Given the description of an element on the screen output the (x, y) to click on. 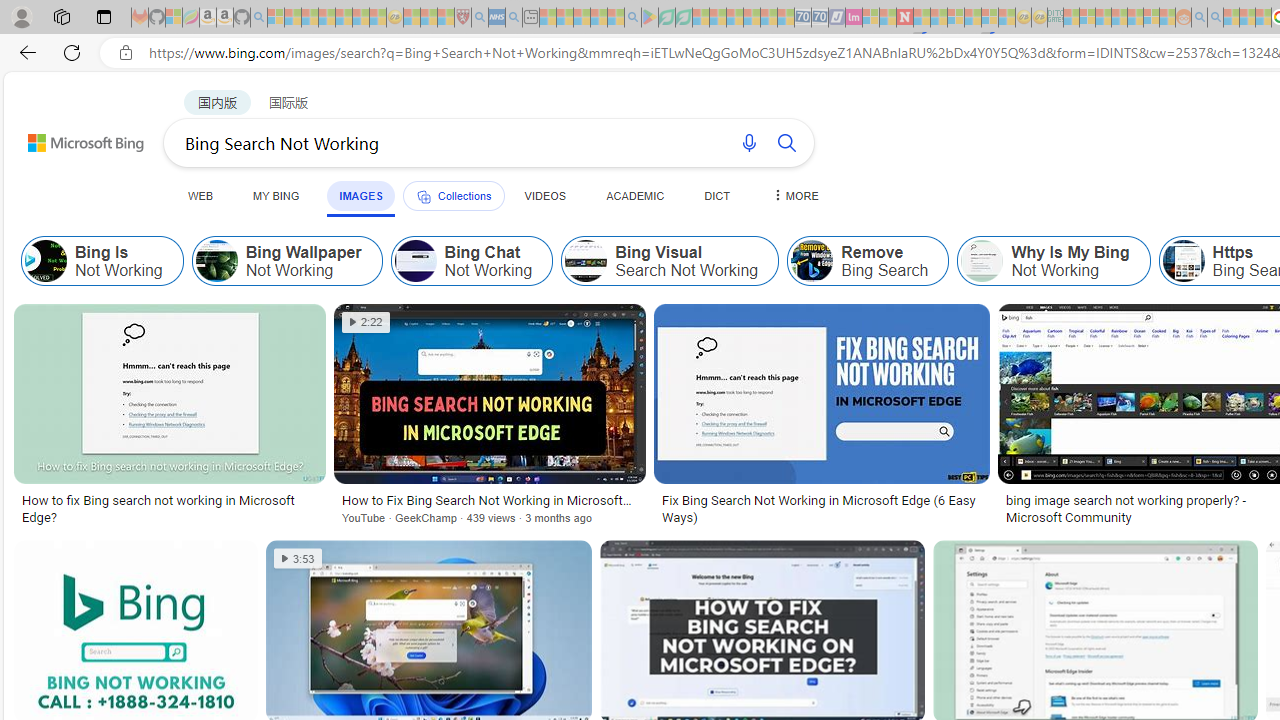
WEB (201, 195)
Bing Visual Search Not Working (670, 260)
Https Bing Search (1183, 260)
Class: item col (1053, 260)
How to fix Bing search not working in Microsoft Edge? (169, 508)
Back to Bing search (73, 138)
